Given the description of an element on the screen output the (x, y) to click on. 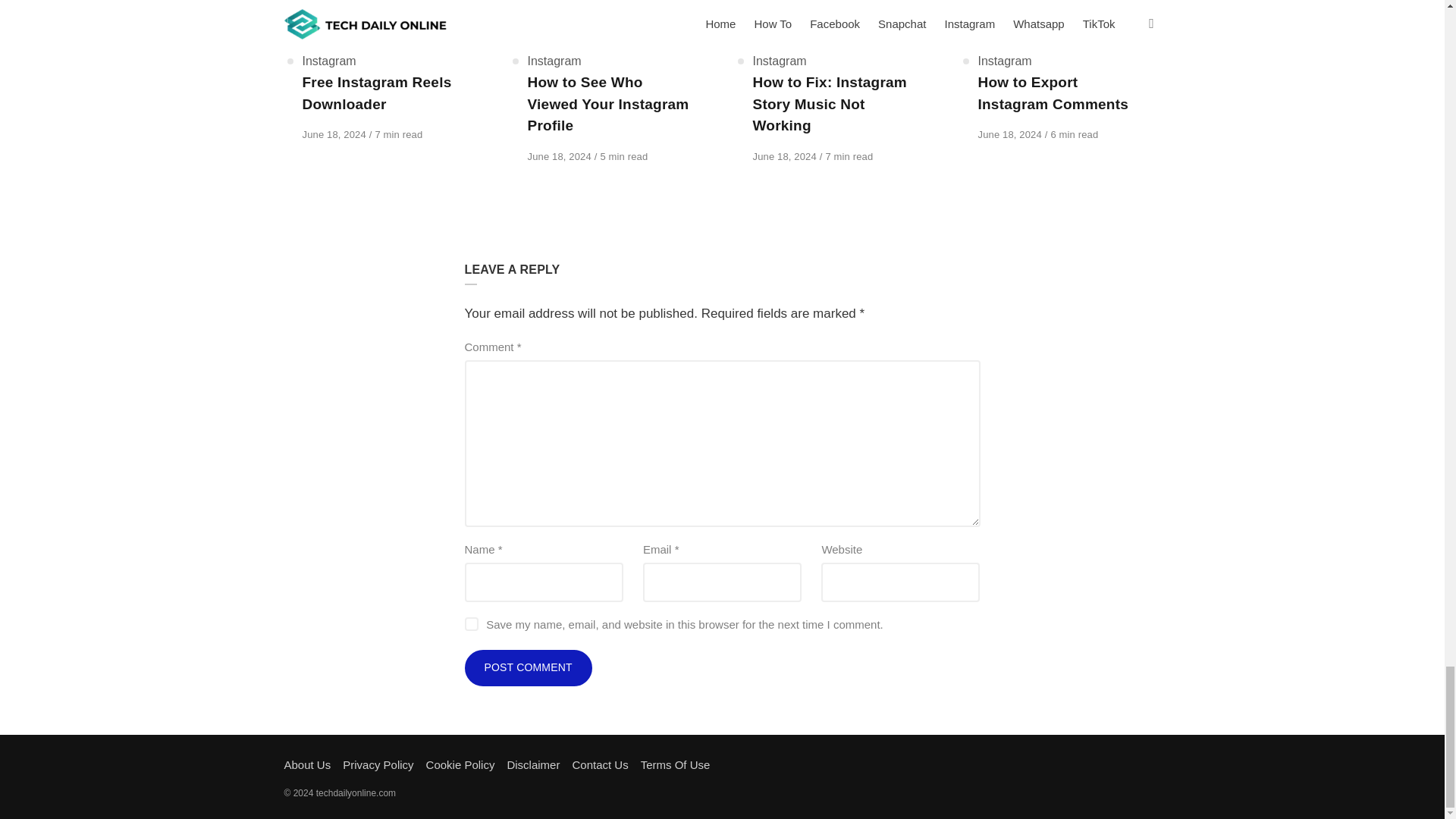
yes (470, 623)
June 18, 2024 (785, 156)
Instagram (779, 60)
June 18, 2024 (334, 134)
June 18, 2024 (560, 156)
June 18, 2024 (334, 134)
June 18, 2024 (560, 156)
Instagram (553, 60)
Post Comment (527, 668)
June 18, 2024 (785, 156)
